Given the description of an element on the screen output the (x, y) to click on. 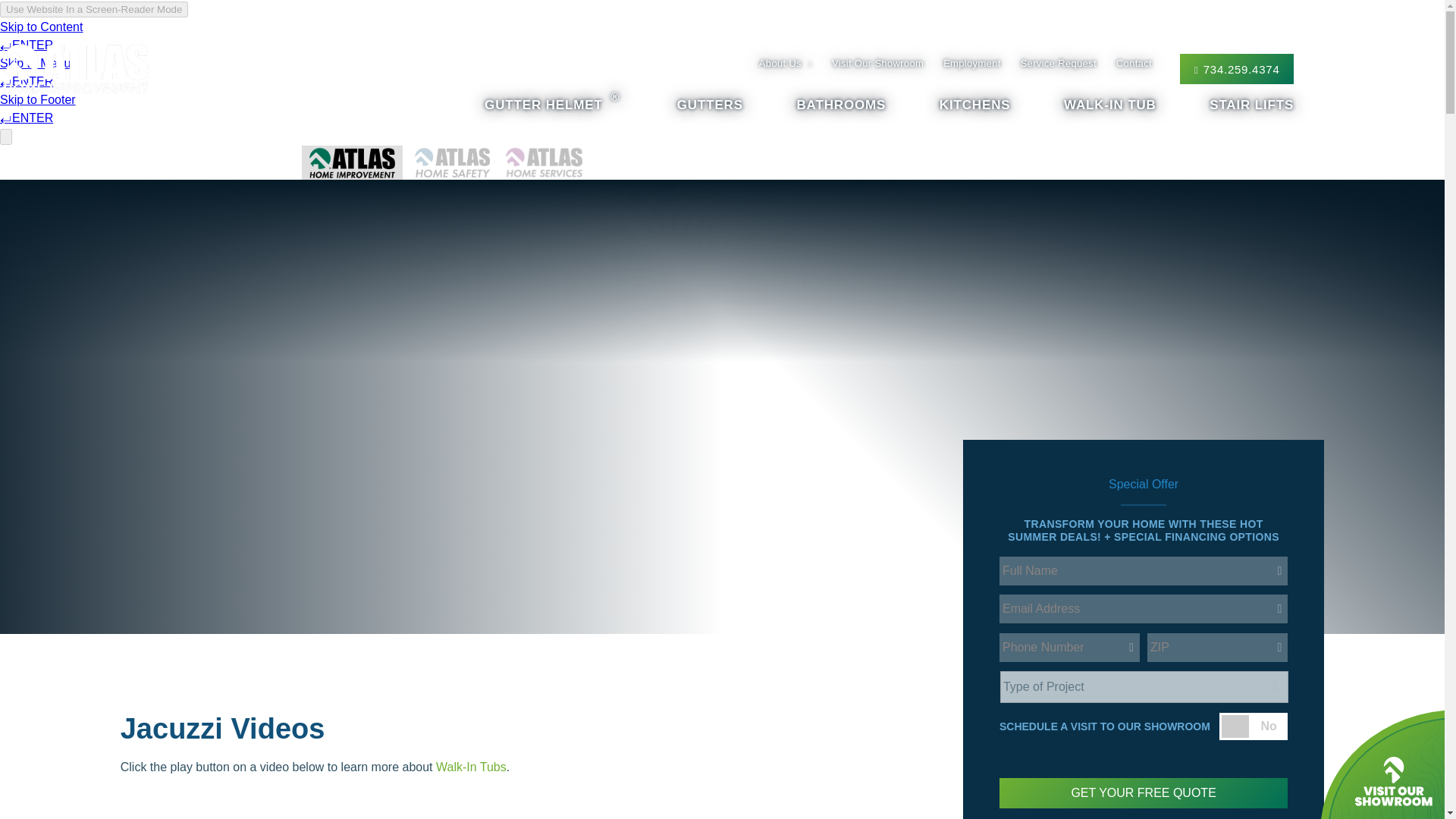
Service Request (1058, 62)
Get Your Free Quote (1142, 793)
Visit Our Showroom (877, 62)
About Us (785, 62)
Contact (1133, 62)
734.259.4374 (1236, 69)
Atlas Home Improvement (107, 68)
Employment (972, 62)
